Given the description of an element on the screen output the (x, y) to click on. 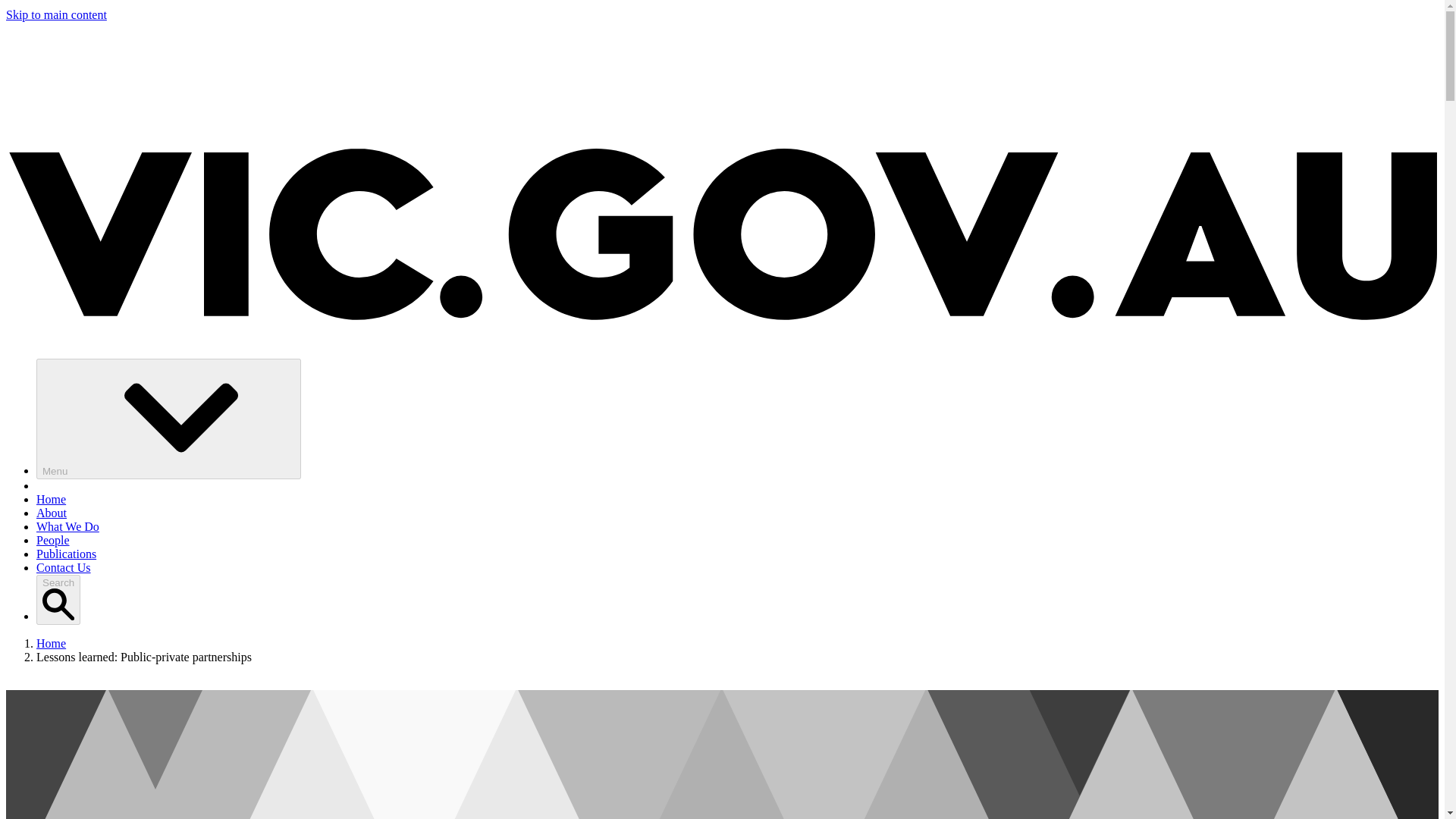
Skip to main content (55, 14)
About (51, 512)
Home (50, 643)
What We Do (67, 526)
People (52, 540)
Publications (66, 553)
Contact Us (63, 567)
Home (50, 499)
